Given the description of an element on the screen output the (x, y) to click on. 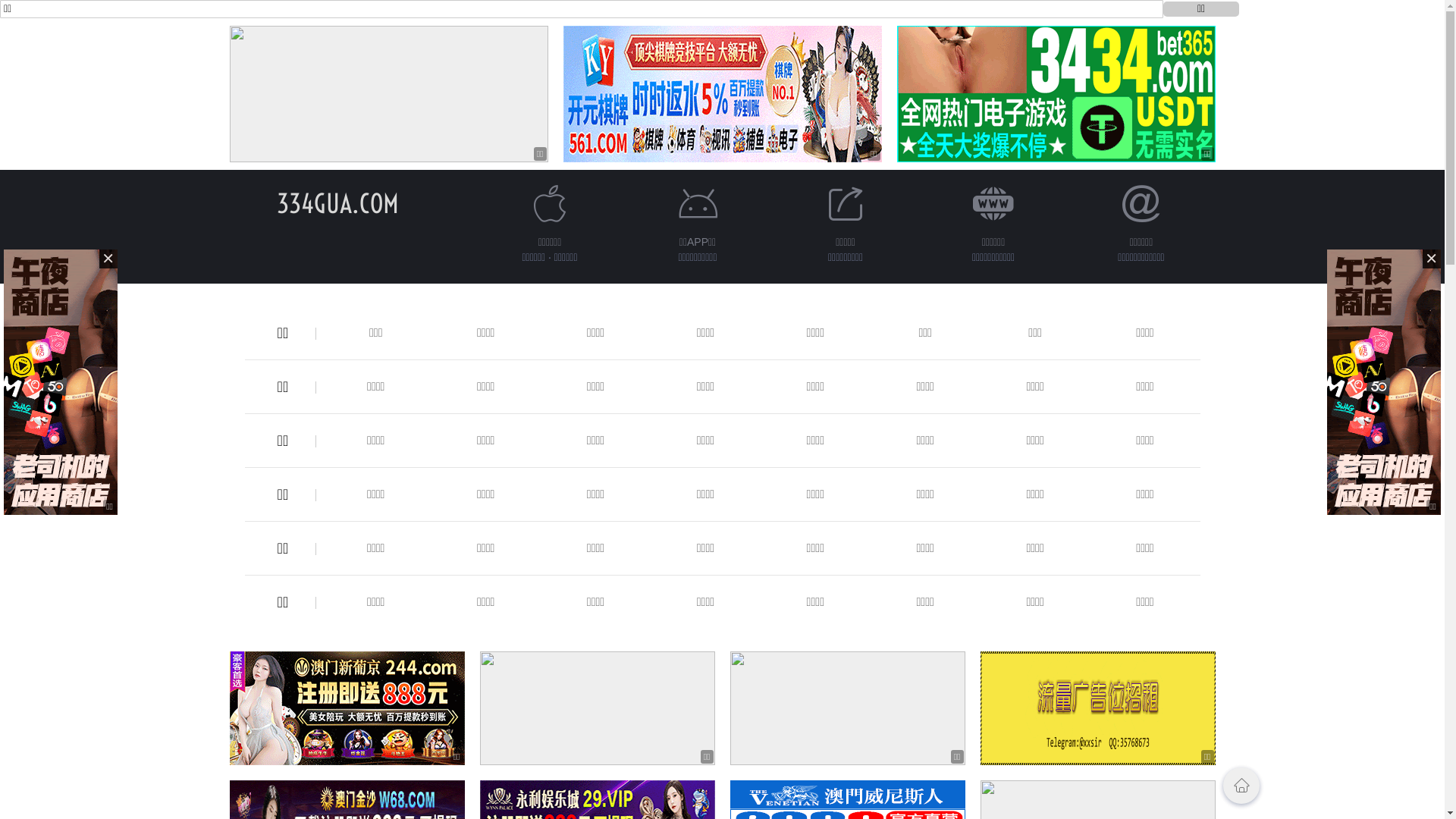
334GUA.COM Element type: text (337, 203)
